Given the description of an element on the screen output the (x, y) to click on. 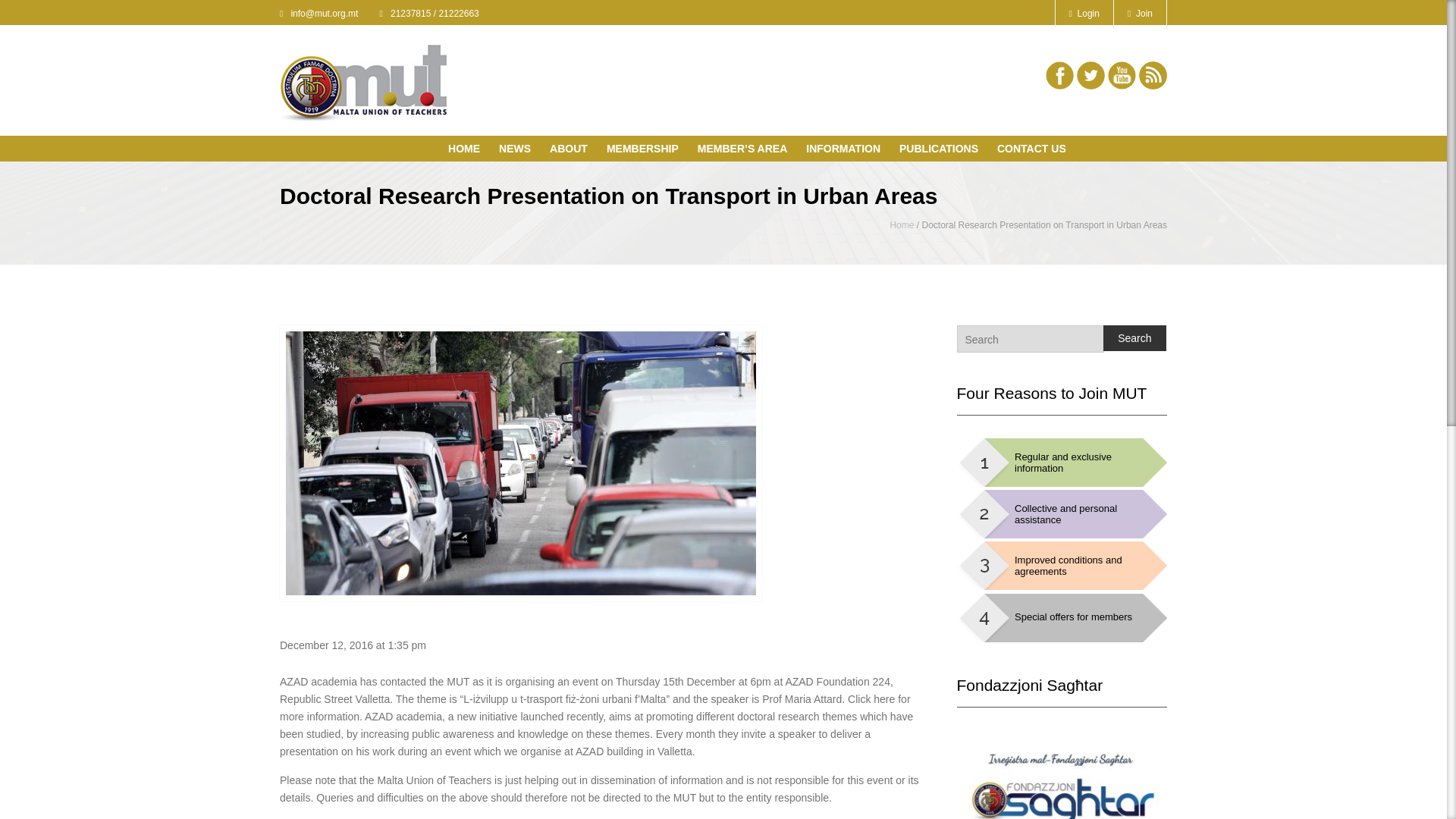
Search (1134, 338)
  Login (1083, 13)
ABOUT (572, 150)
HOME (467, 150)
  Join (1140, 13)
NEWS (518, 150)
MEMBERSHIP (646, 150)
